Given the description of an element on the screen output the (x, y) to click on. 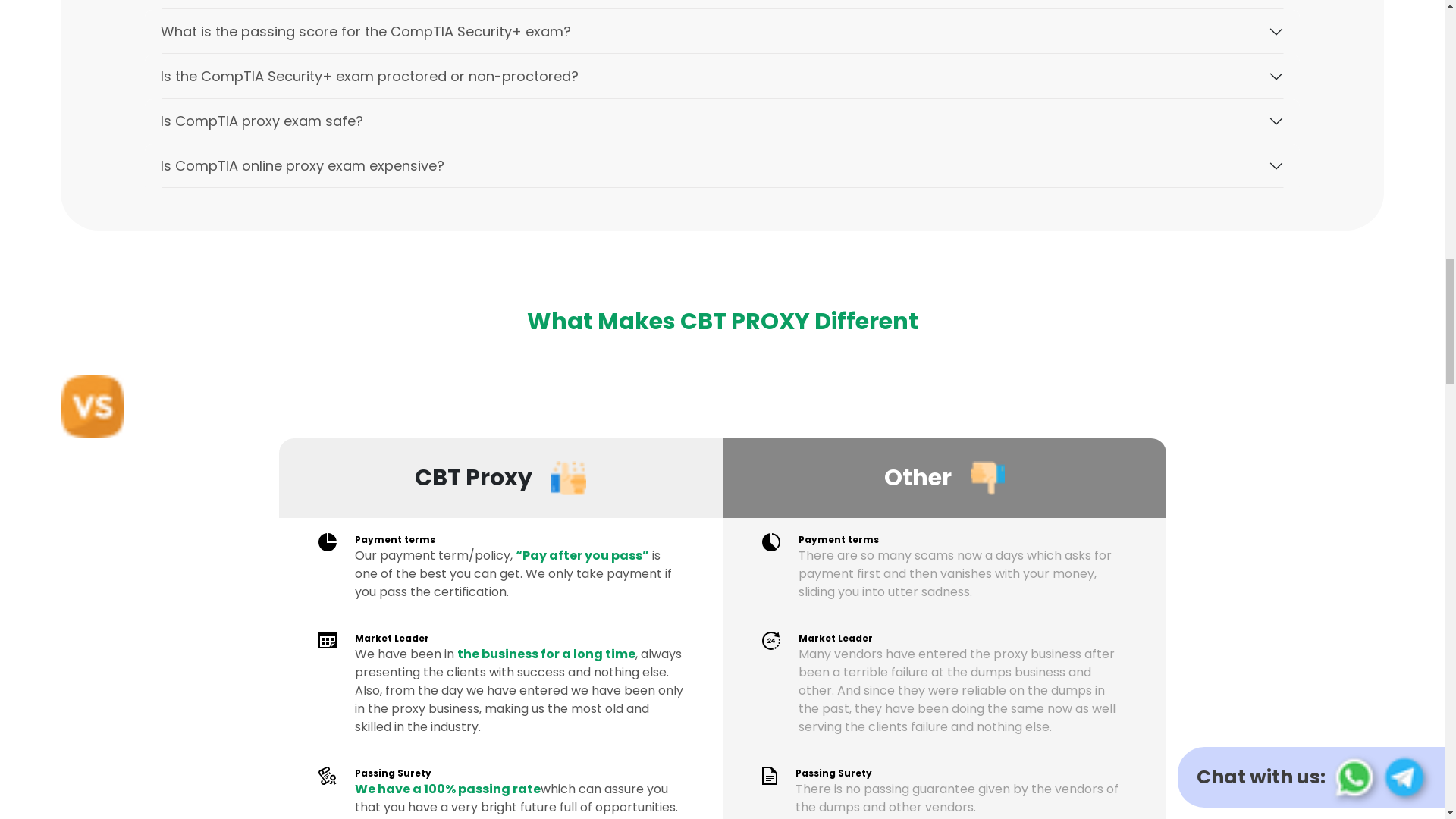
Is CompTIA proxy exam safe? (722, 120)
Is CompTIA online proxy exam expensive? (722, 165)
